Given the description of an element on the screen output the (x, y) to click on. 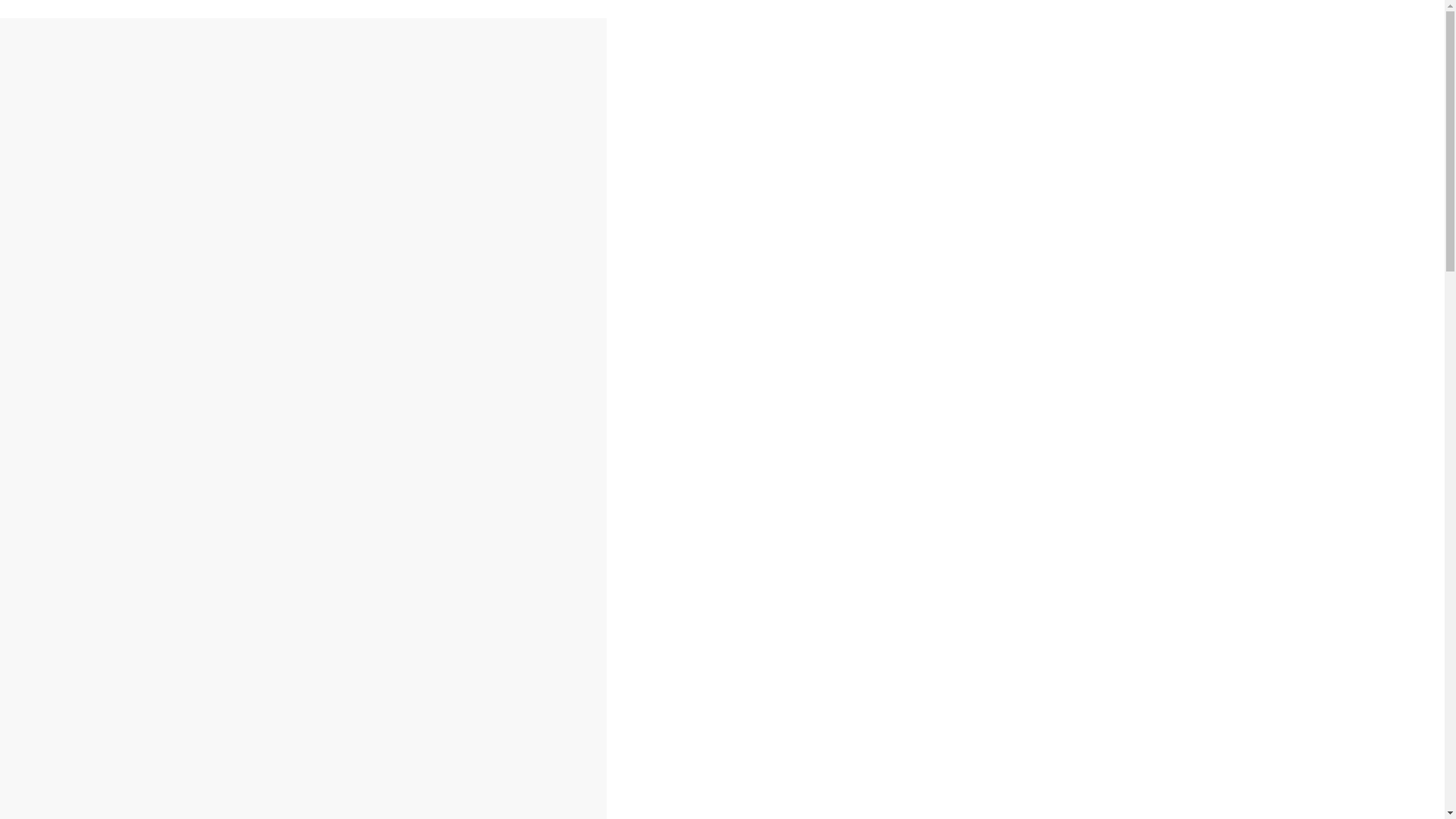
admin (194, 116)
pg soft (25, 323)
March 27, 2023 (111, 116)
cuttingedgequilts.com (104, 30)
